Given the description of an element on the screen output the (x, y) to click on. 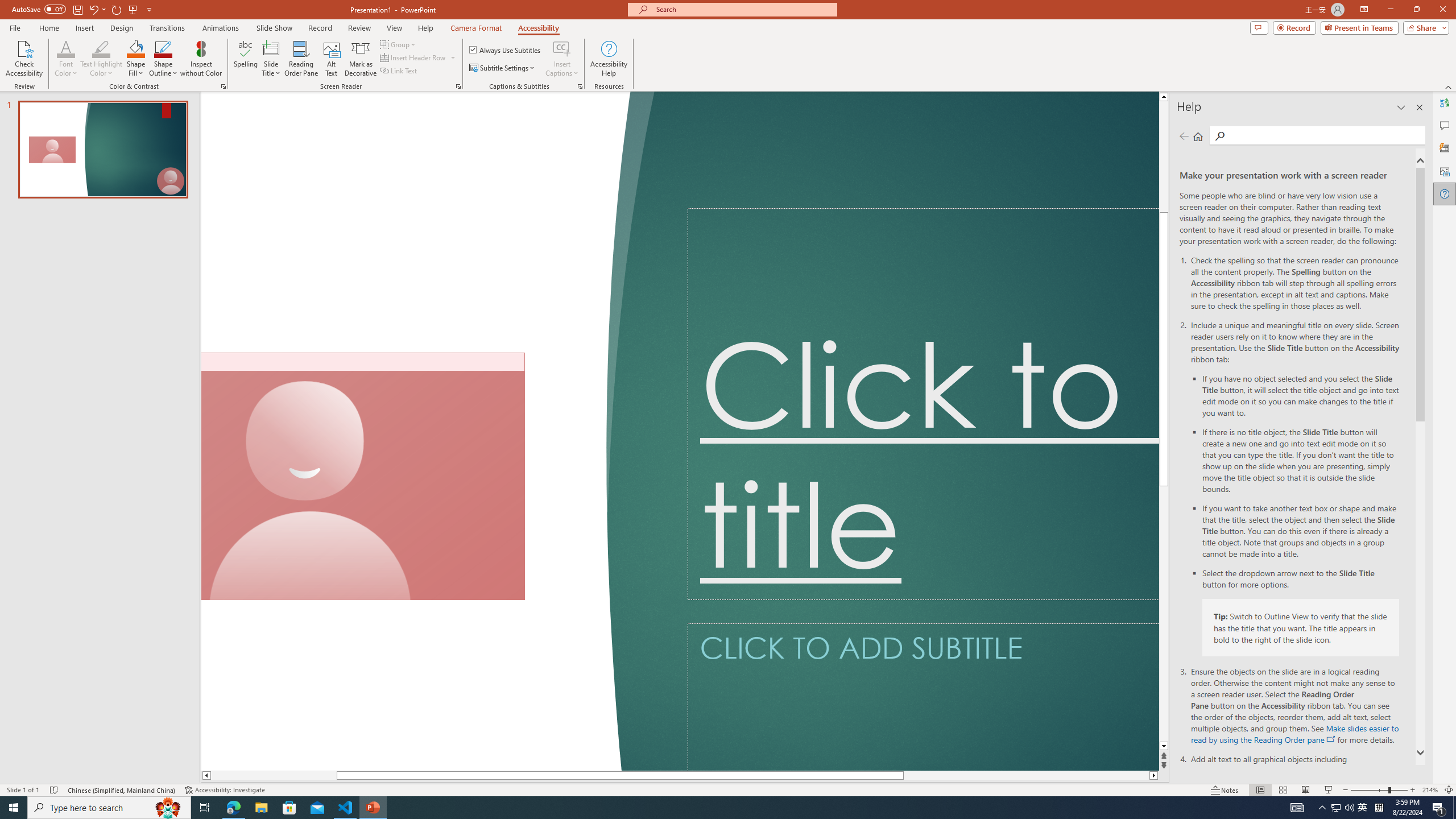
Always Use Subtitles (505, 49)
Accessibility Help (608, 58)
